Given the description of an element on the screen output the (x, y) to click on. 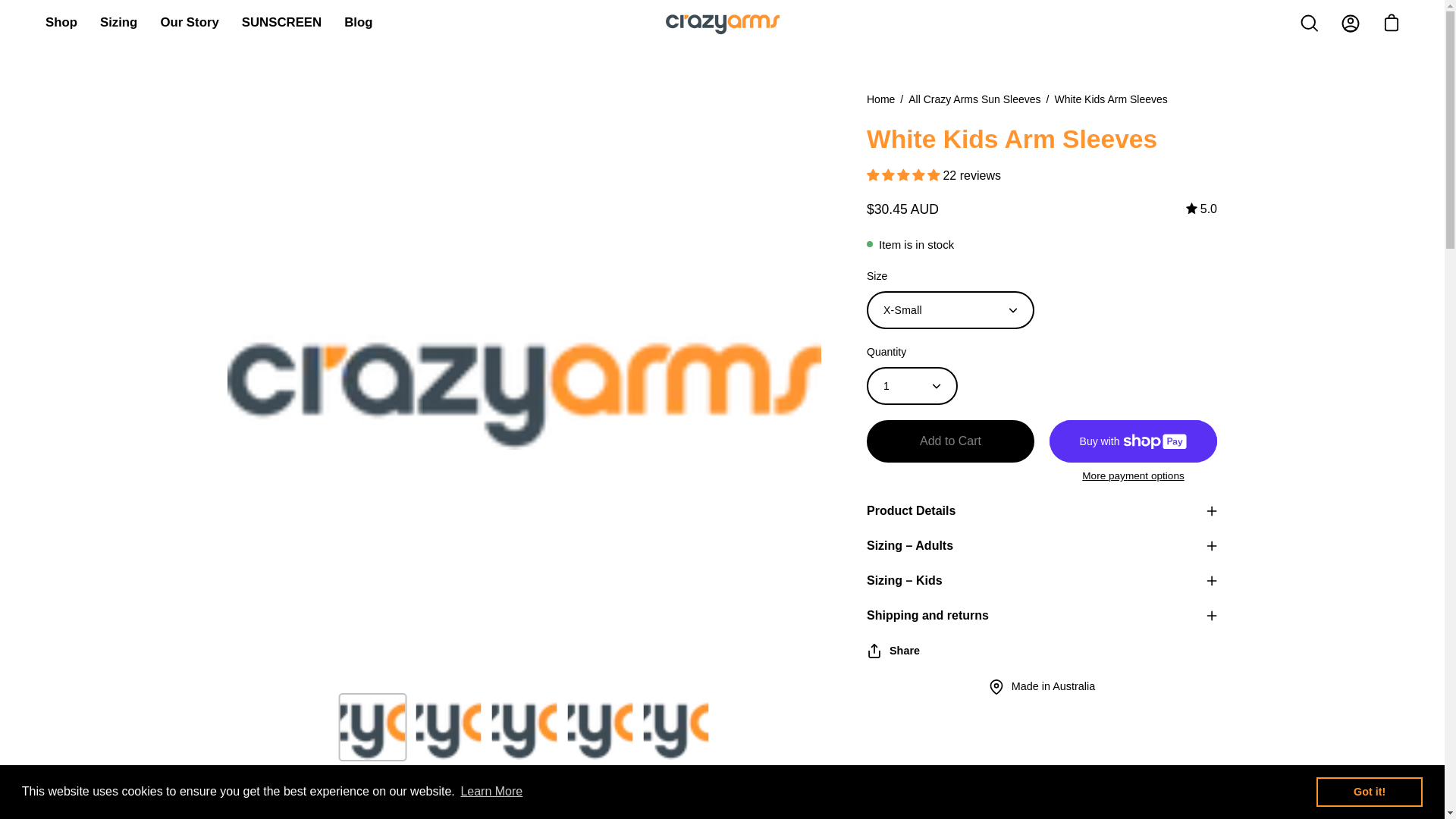
Learn More (491, 791)
Go back to Home page (880, 99)
Got it! (1369, 791)
